Given the description of an element on the screen output the (x, y) to click on. 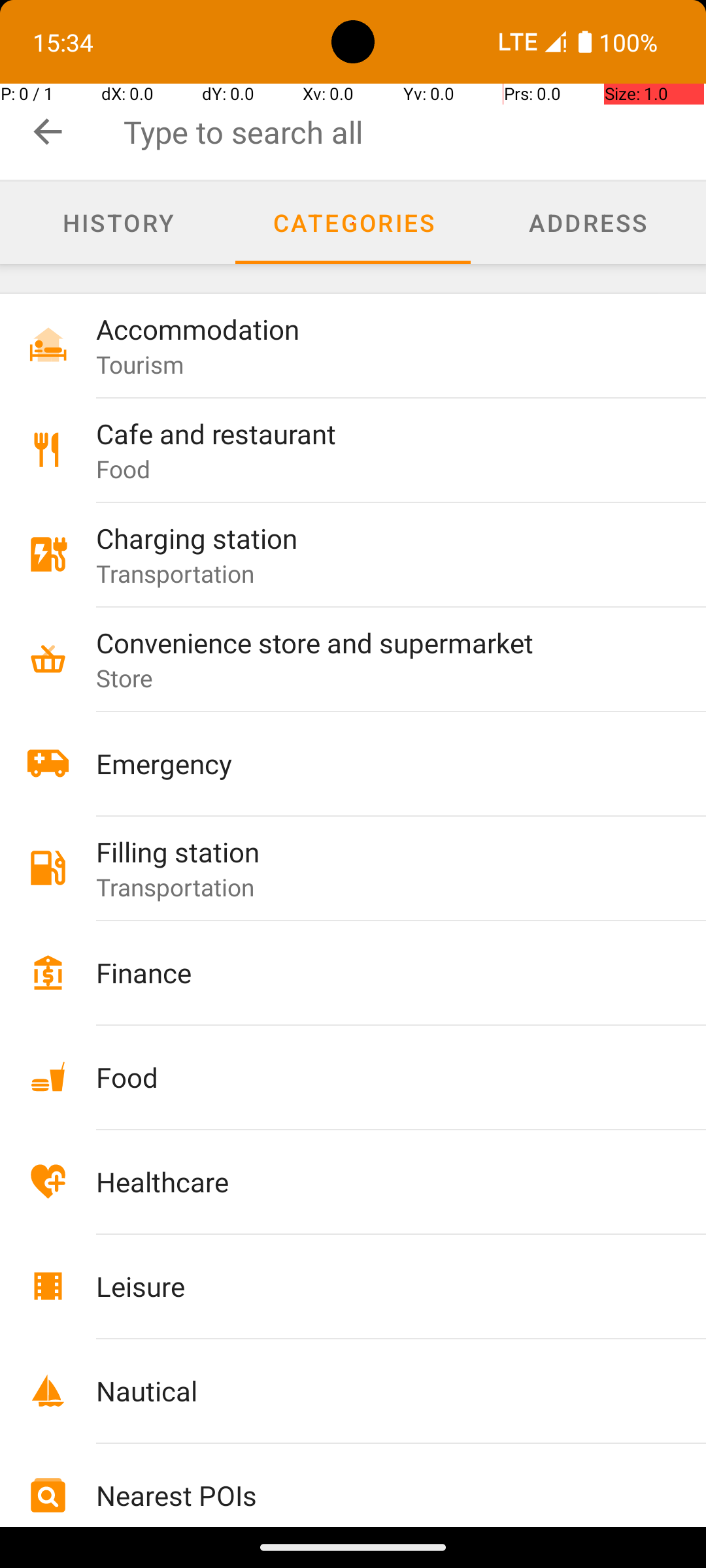
Type to search all Element type: android.widget.EditText (414, 131)
Accommodation Element type: android.widget.TextView (373, 328)
Tourism Element type: android.widget.TextView (140, 363)
Cafe and restaurant Element type: android.widget.TextView (373, 433)
Charging station Element type: android.widget.TextView (373, 537)
Transportation Element type: android.widget.TextView (175, 572)
Convenience store and supermarket Element type: android.widget.TextView (373, 642)
Store Element type: android.widget.TextView (124, 677)
Emergency Element type: android.widget.TextView (373, 763)
Filling station Element type: android.widget.TextView (373, 851)
Healthcare Element type: android.widget.TextView (373, 1181)
Leisure Element type: android.widget.TextView (373, 1285)
Nautical Element type: android.widget.TextView (373, 1390)
Nearest POIs Element type: android.widget.TextView (373, 1494)
